Given the description of an element on the screen output the (x, y) to click on. 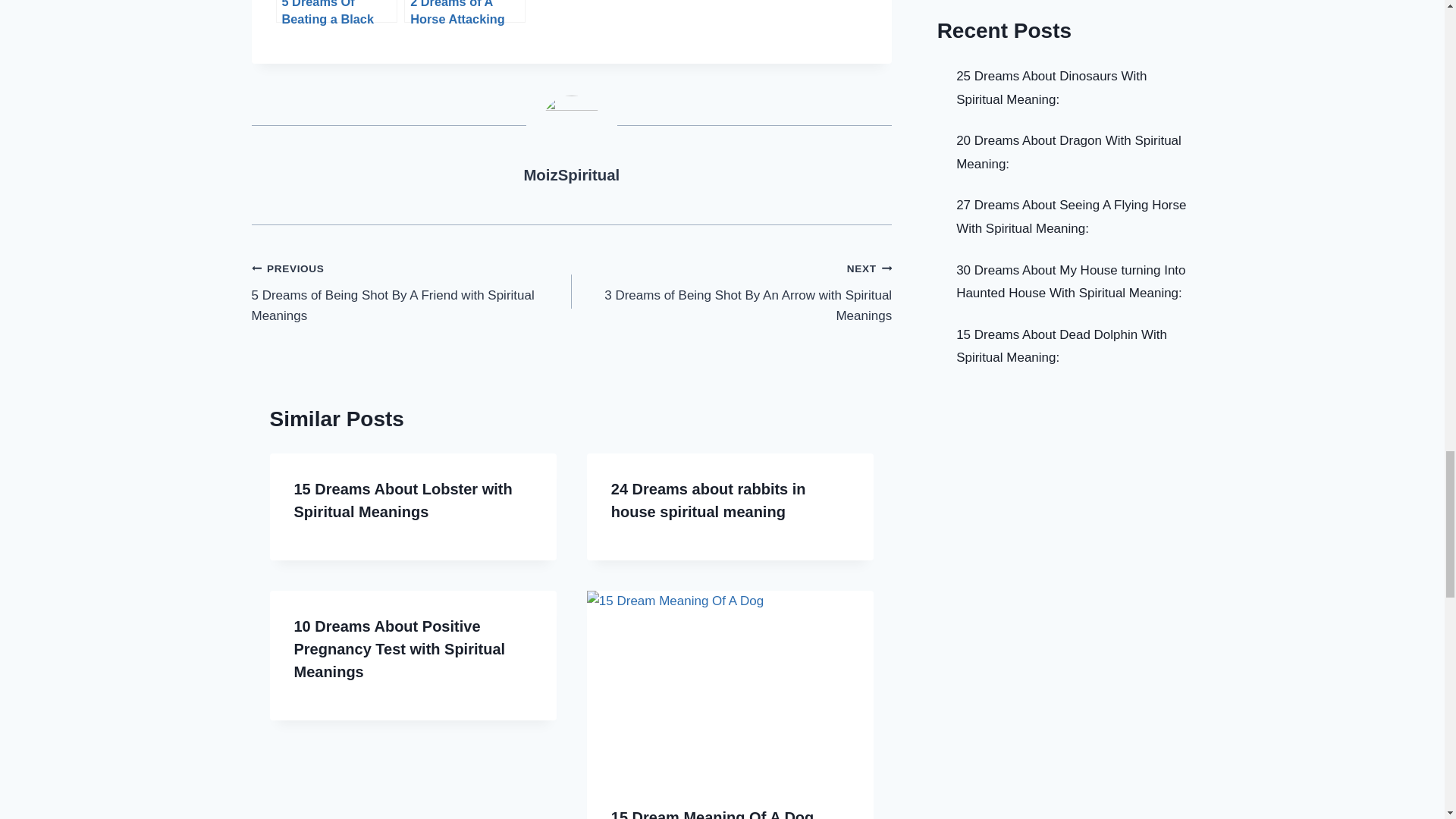
2 Dreams of A Horse Attacking You With Spiritual Meanings (464, 11)
15 Dream Meaning Of A Dog (712, 814)
Posts by MoizSpiritual (571, 175)
15 Dreams About Lobster with Spiritual Meanings (403, 500)
MoizSpiritual (571, 175)
24 Dreams about rabbits in house spiritual meaning (708, 500)
5 Dreams Of Beating a Black Dog with Spiritual Meanings (336, 11)
2 Dreams of A Horse Attacking You With Spiritual Meanings (464, 11)
5 Dreams Of Beating a Black Dog with Spiritual Meanings (336, 11)
